Given the description of an element on the screen output the (x, y) to click on. 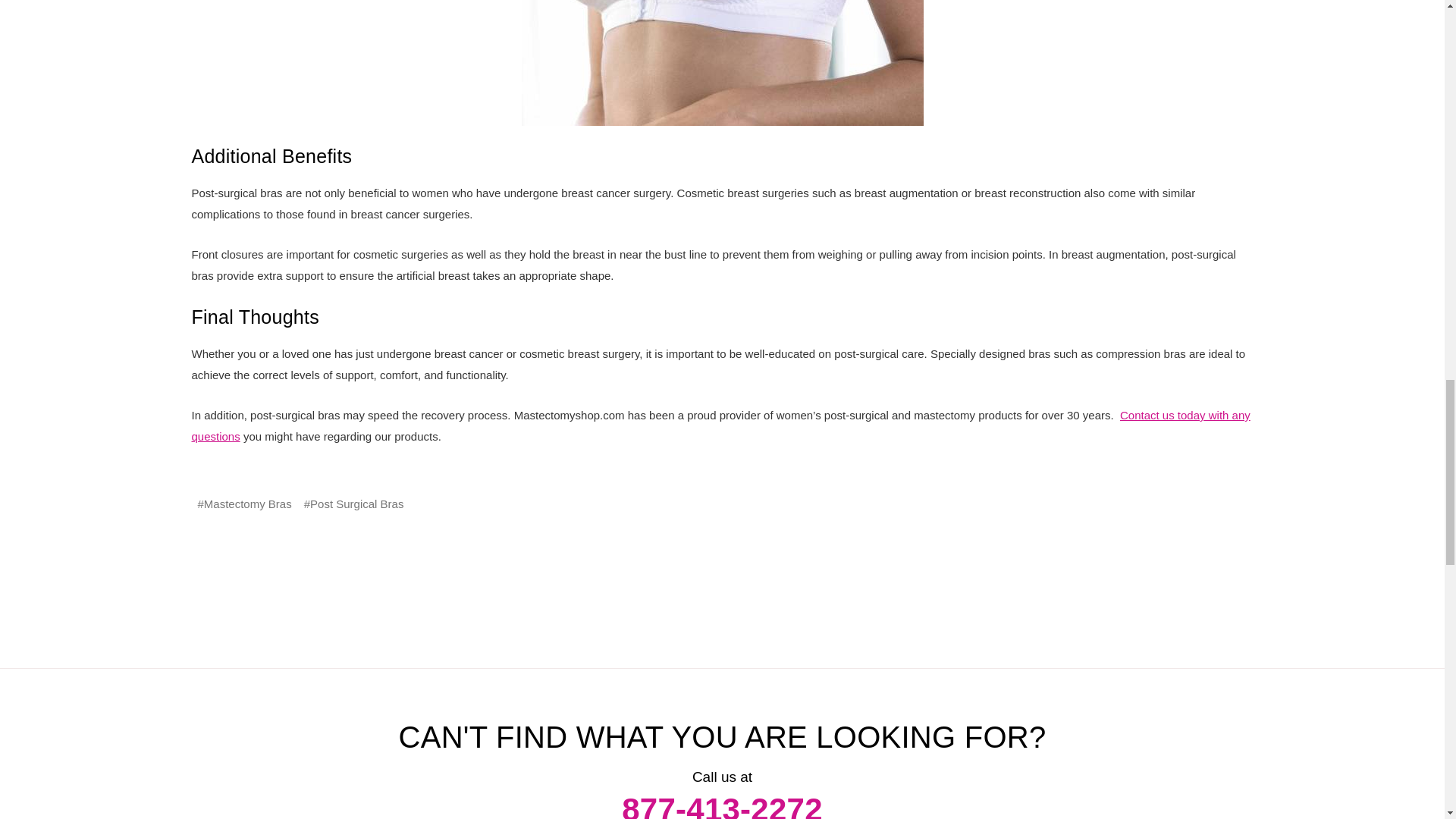
White front Closure Bra (722, 63)
